Given the description of an element on the screen output the (x, y) to click on. 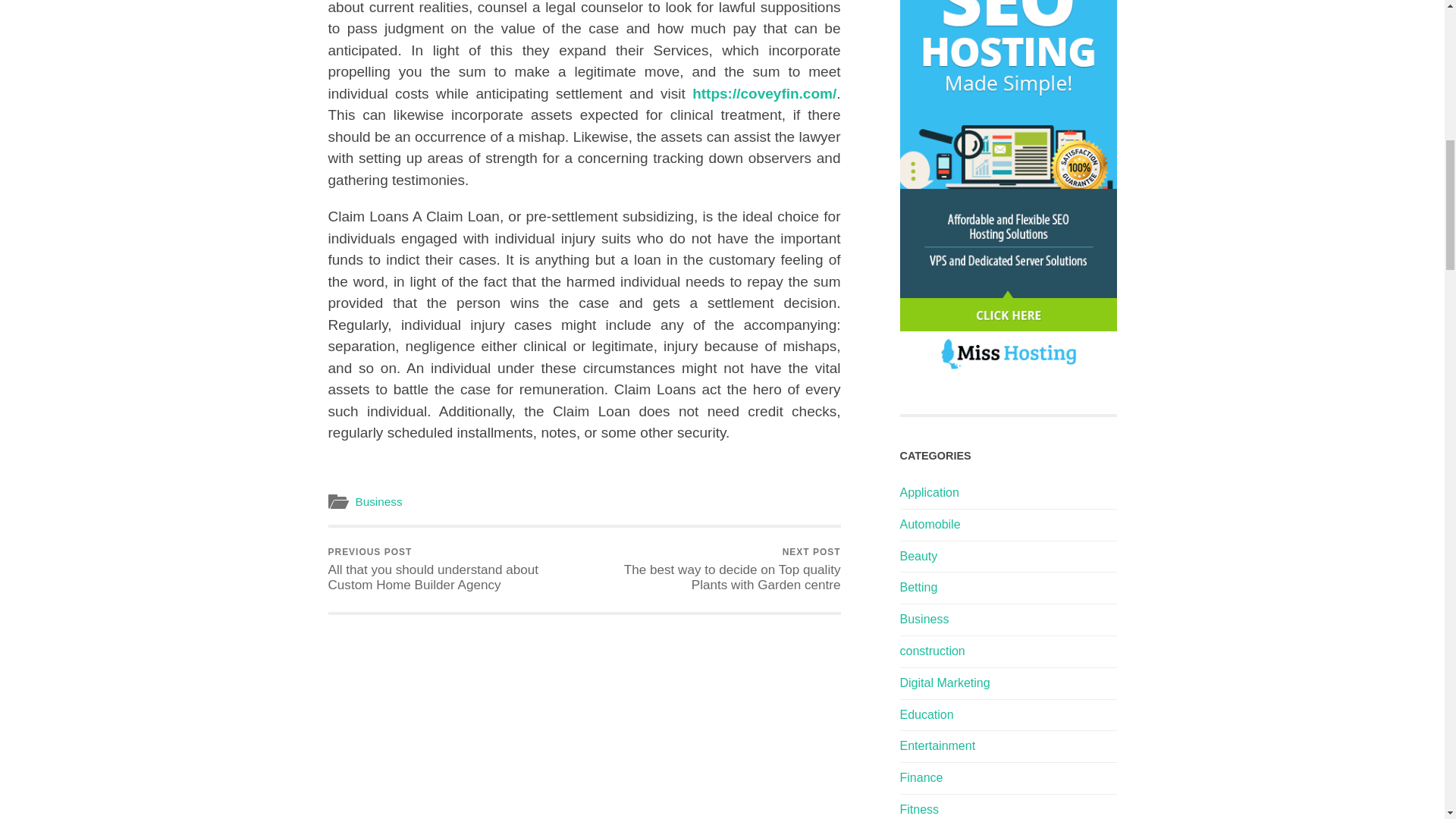
Finance (920, 777)
Digital Marketing (944, 682)
Business (378, 501)
construction (931, 650)
Betting (918, 586)
Automobile (929, 523)
Education (926, 714)
Fitness (919, 809)
Application (928, 492)
Beauty (918, 555)
Business (924, 618)
Entertainment (937, 745)
